Given the description of an element on the screen output the (x, y) to click on. 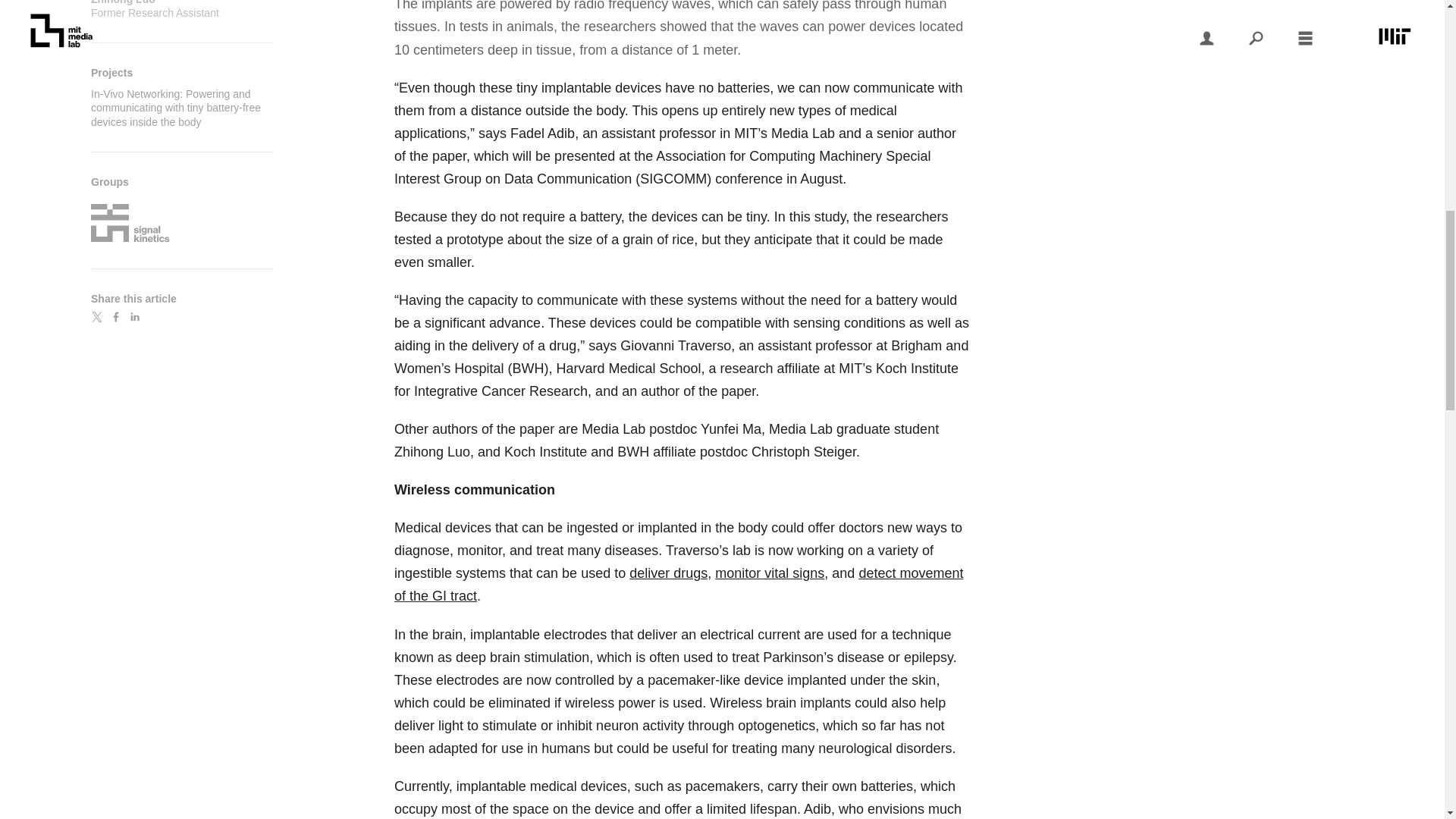
deliver drugs (667, 572)
detect movement of the GI tract (678, 584)
monitor vital signs (181, 9)
